Given the description of an element on the screen output the (x, y) to click on. 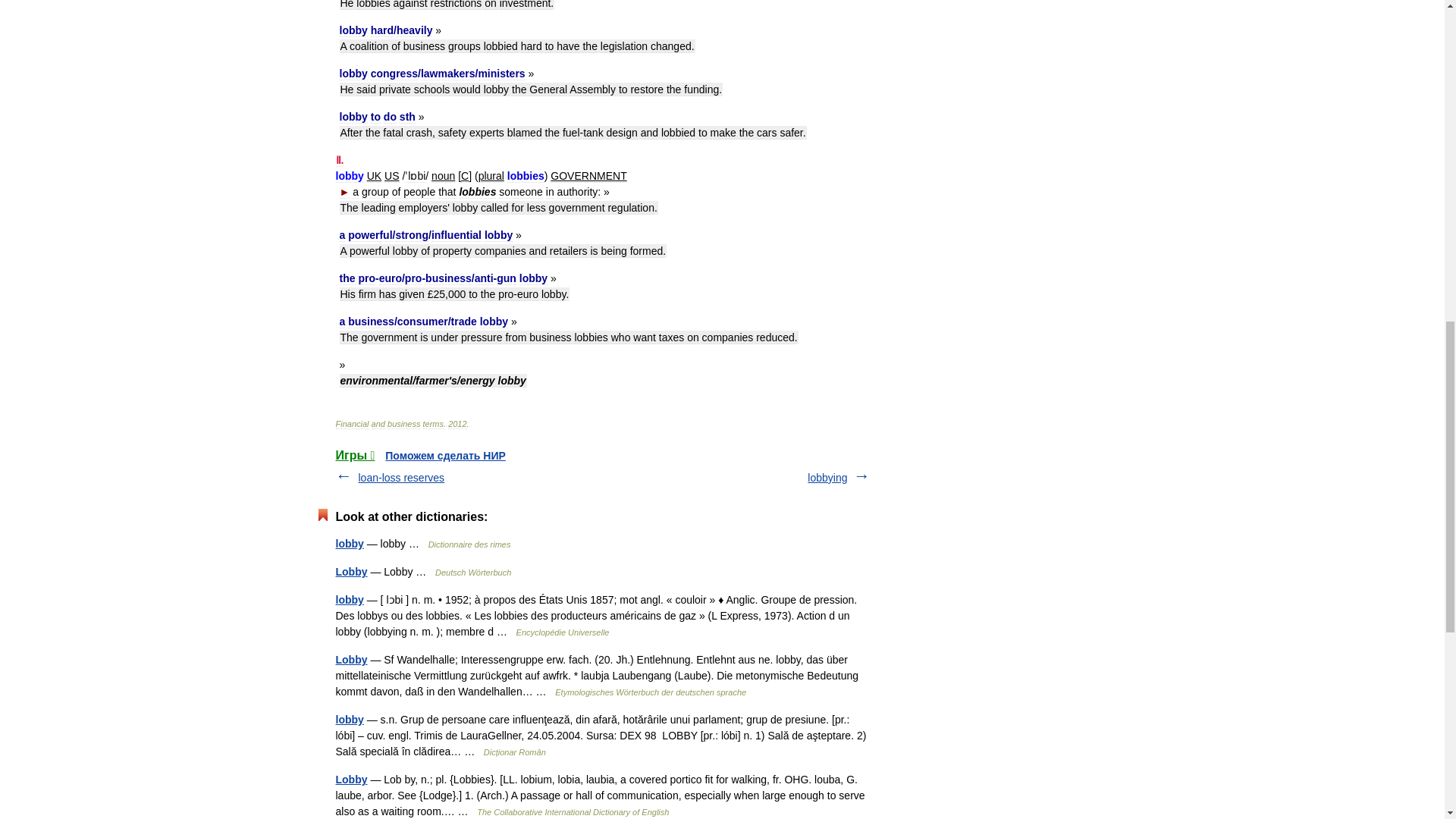
lobbying (827, 477)
loan-loss reserves (401, 477)
Lobby (350, 779)
lobby (348, 599)
lobbying (827, 477)
loan-loss reserves (401, 477)
Lobby (350, 571)
Lobby (350, 659)
lobby (348, 543)
lobby (348, 719)
